Given the description of an element on the screen output the (x, y) to click on. 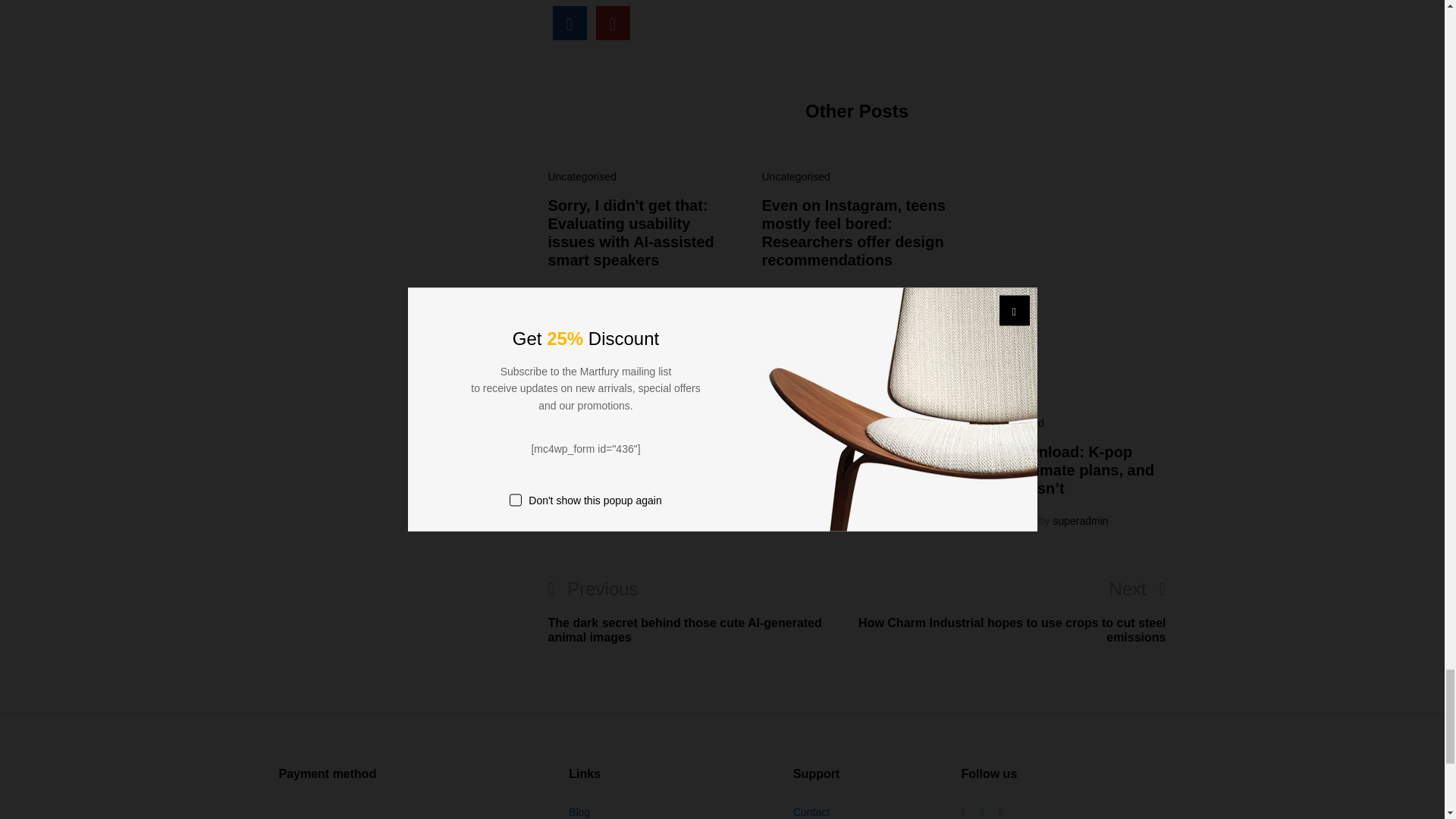
Instagram (1000, 811)
Twitter (981, 811)
Facebook (962, 811)
